Given the description of an element on the screen output the (x, y) to click on. 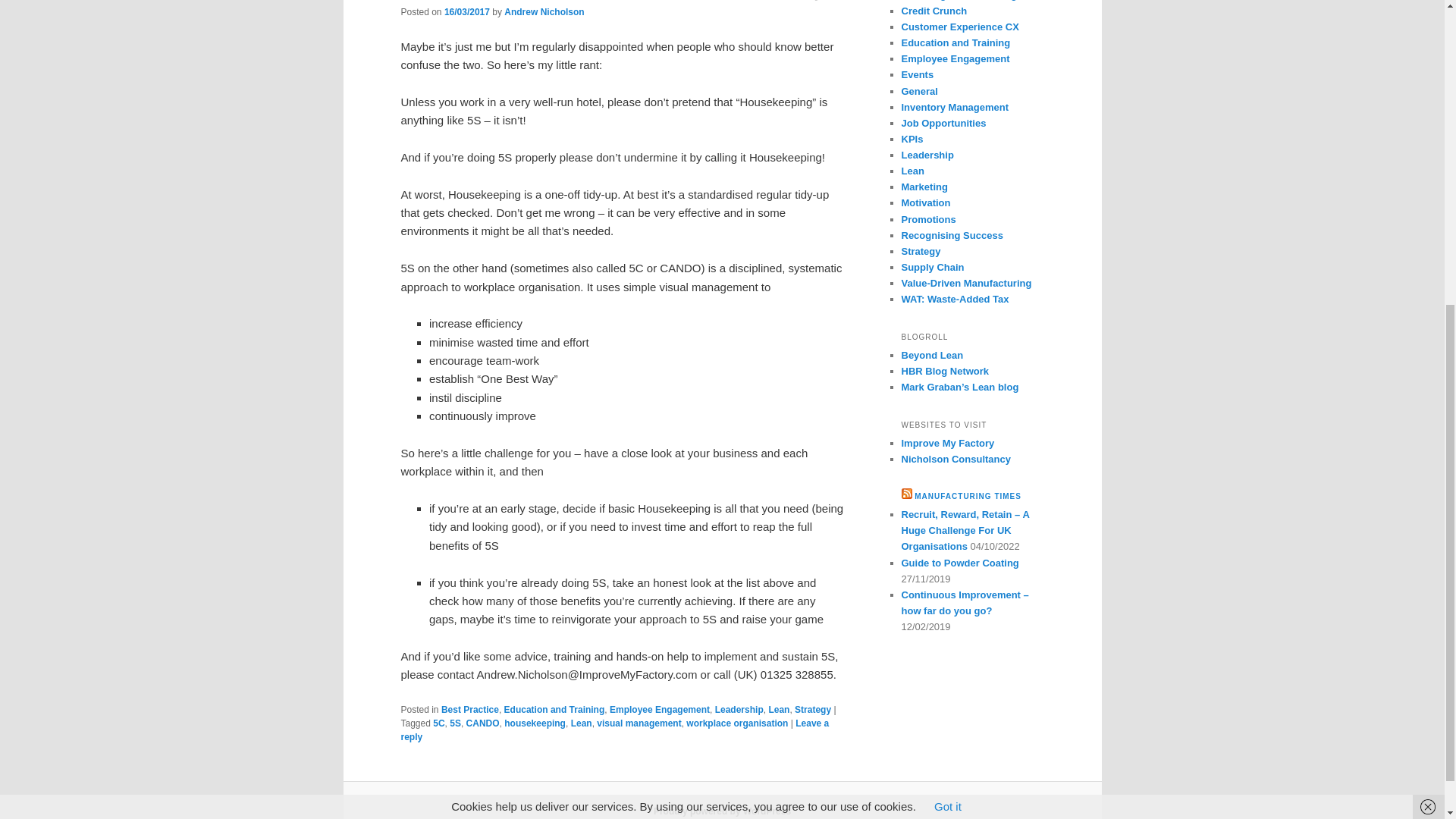
General (919, 91)
Best Practice (470, 709)
Credit Crunch (933, 10)
Events (917, 74)
housekeeping (534, 723)
Inventory Management (955, 107)
View all posts by Andrew Nicholson (543, 11)
Leadership (738, 709)
Visit our website to find out more about Lean (955, 459)
Lean (778, 709)
Education and Training (955, 42)
Employee Engagement (660, 709)
Andrew Nicholson (543, 11)
Employee Engagement (955, 58)
